Given the description of an element on the screen output the (x, y) to click on. 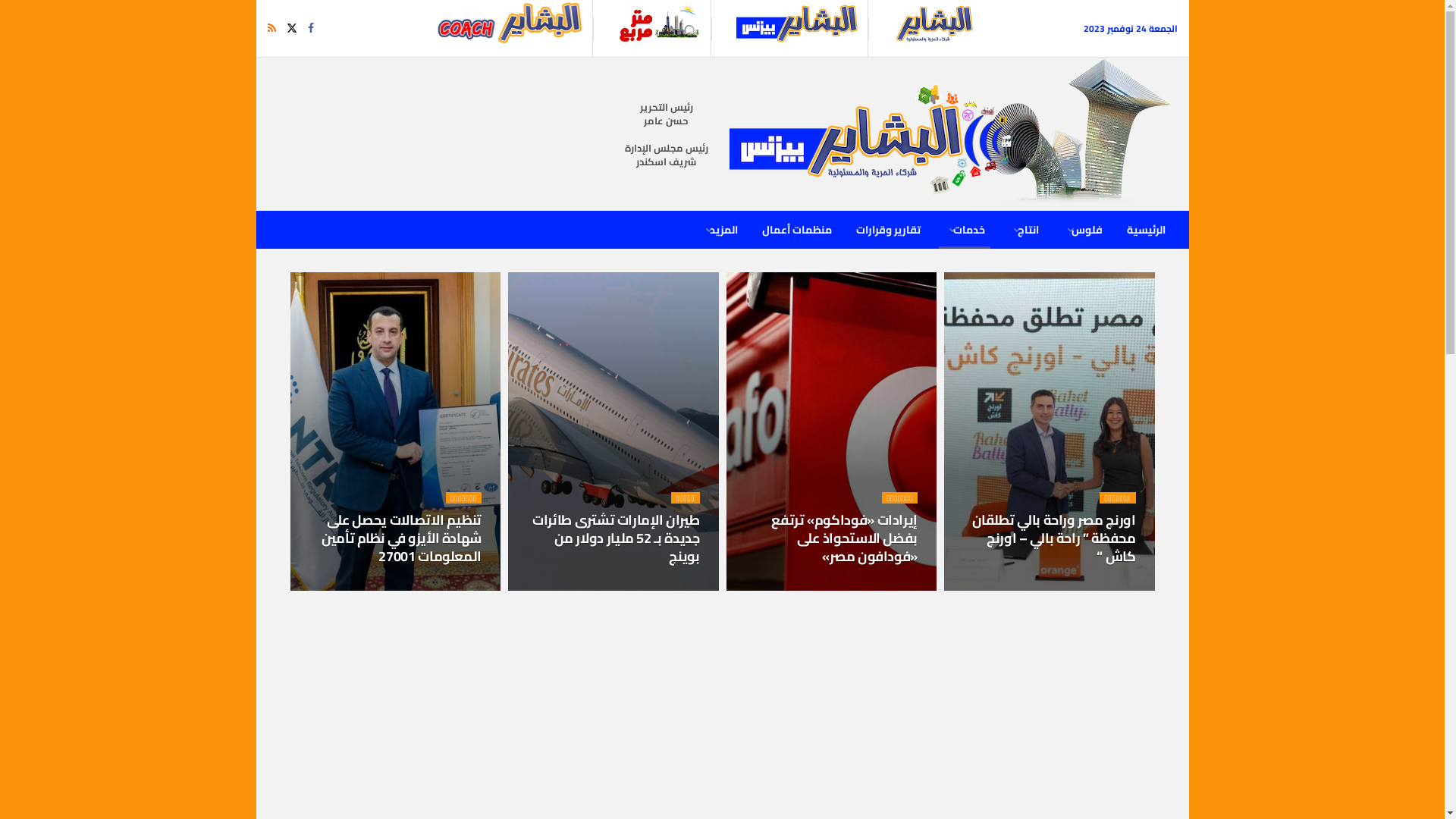
Advertisement Element type: hover (183, 257)
Advertisement Element type: hover (1260, 257)
